Given the description of an element on the screen output the (x, y) to click on. 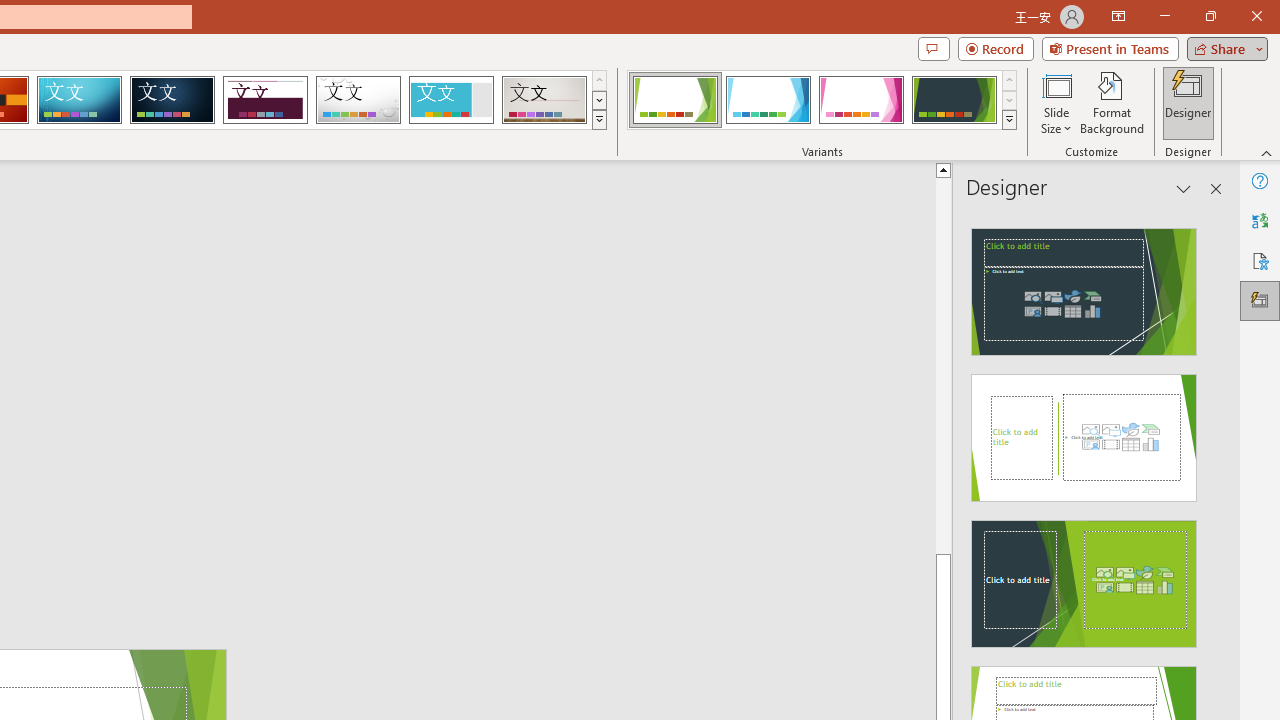
Themes (598, 120)
Droplet (358, 100)
Dividend (265, 100)
AutomationID: ThemeVariantsGallery (822, 99)
